Given the description of an element on the screen output the (x, y) to click on. 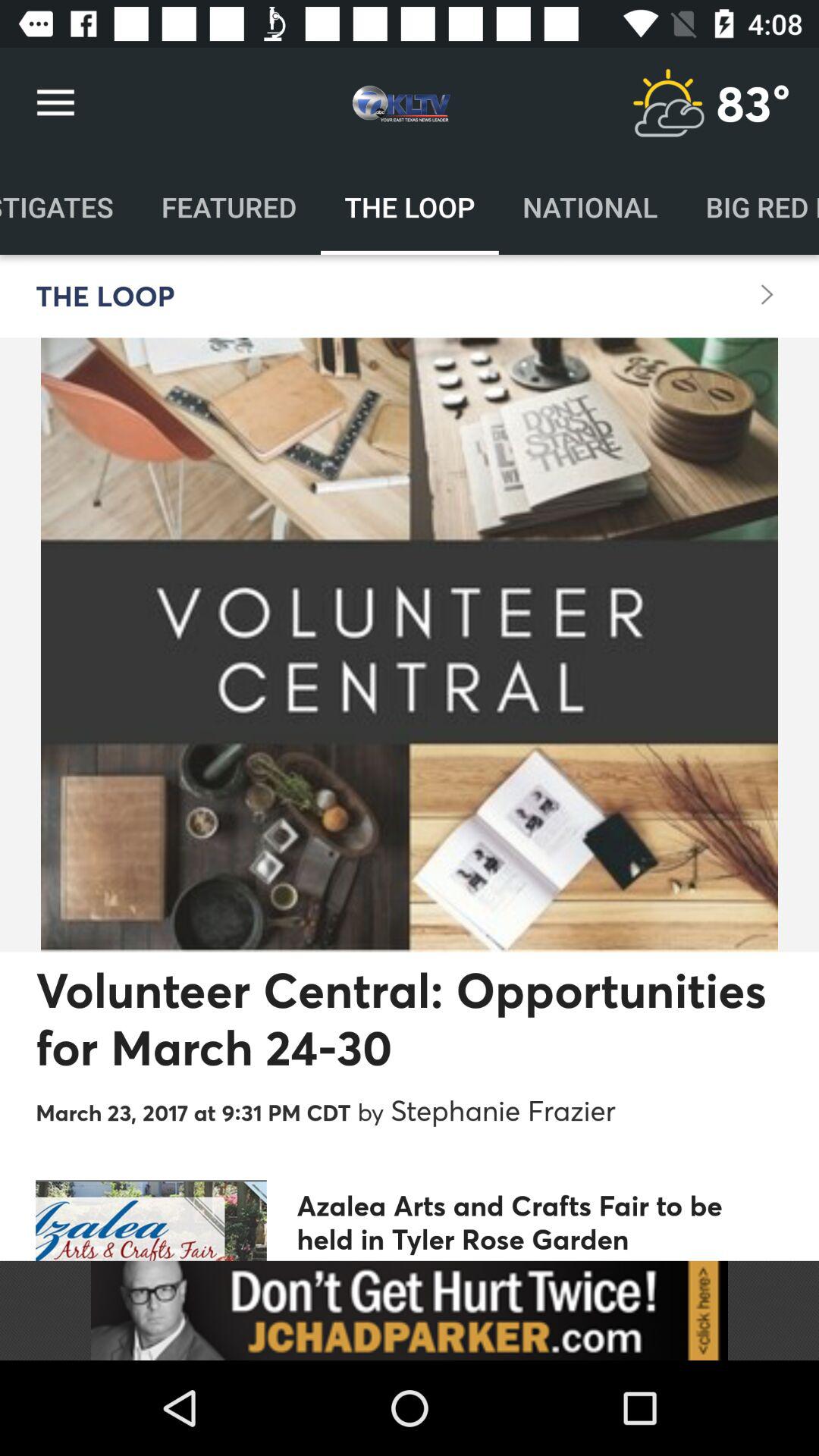
sponsored content (409, 1310)
